Given the description of an element on the screen output the (x, y) to click on. 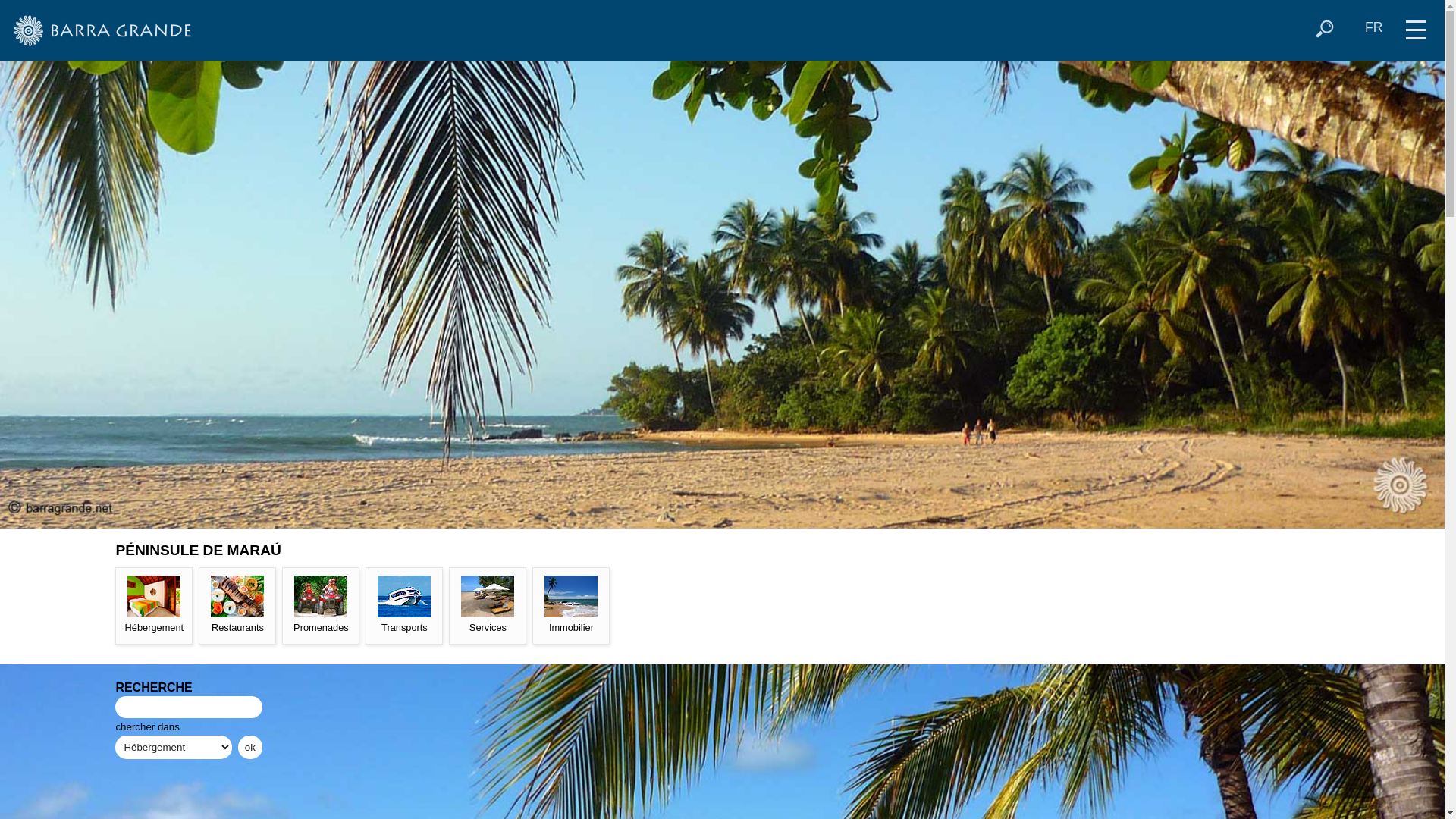
ok Element type: text (250, 747)
menu Element type: hover (1415, 24)
rechercher Element type: hover (1324, 28)
home Element type: hover (104, 30)
